Given the description of an element on the screen output the (x, y) to click on. 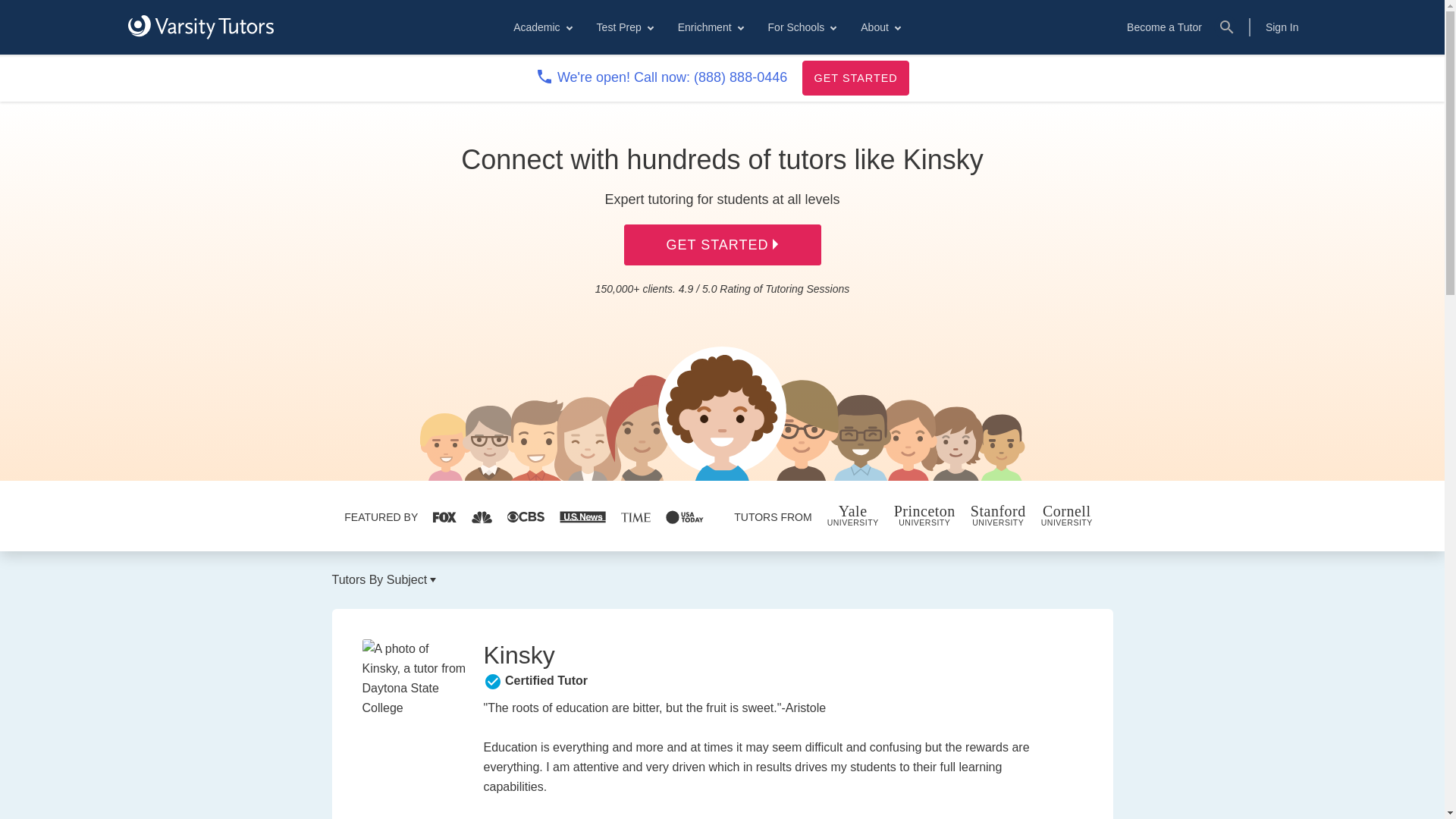
Academic (541, 27)
Varsity Tutors (200, 27)
Varsity Tutors (200, 26)
GET STARTED (855, 77)
